Given the description of an element on the screen output the (x, y) to click on. 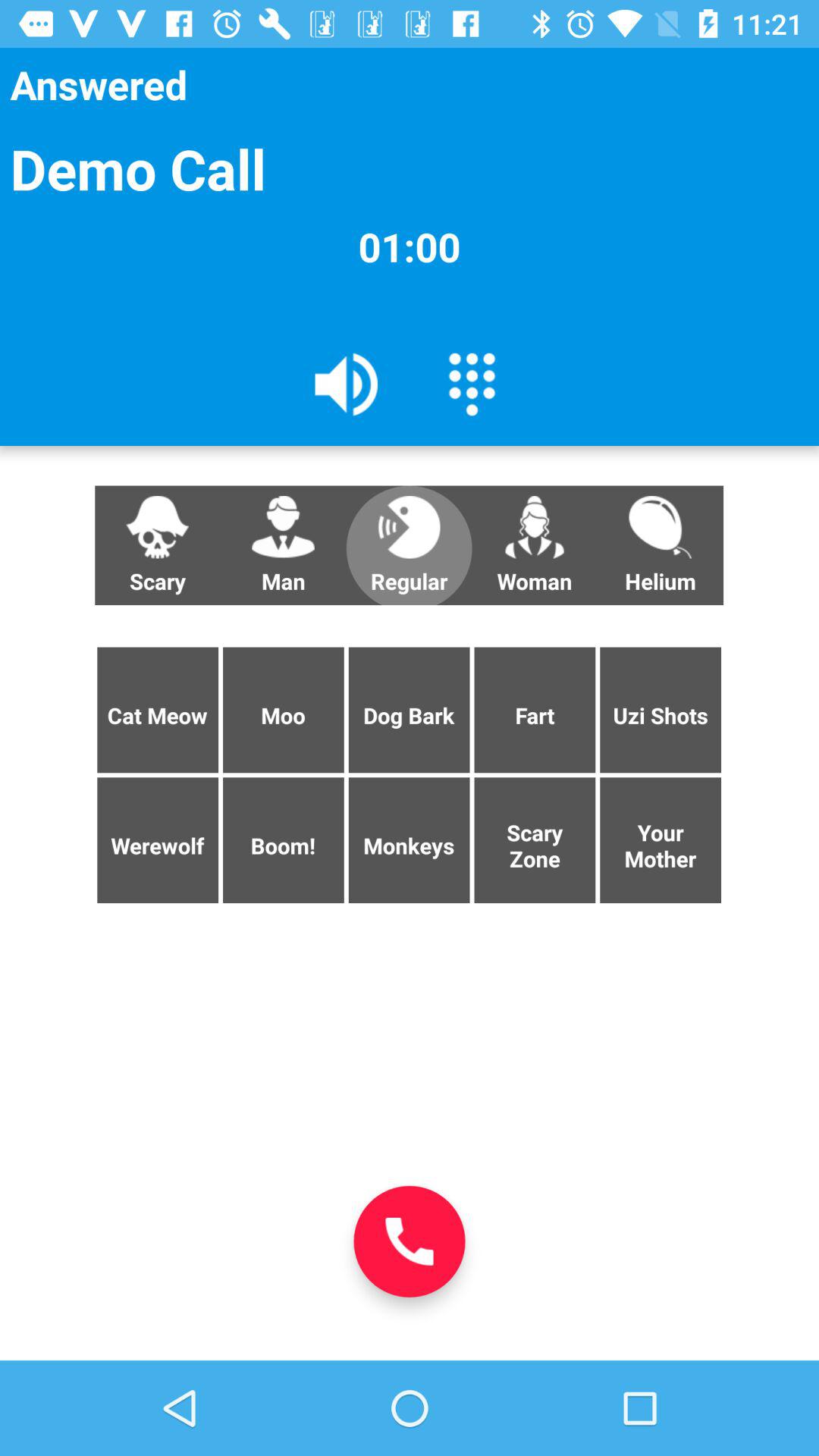
scroll to the woman button (534, 545)
